Given the description of an element on the screen output the (x, y) to click on. 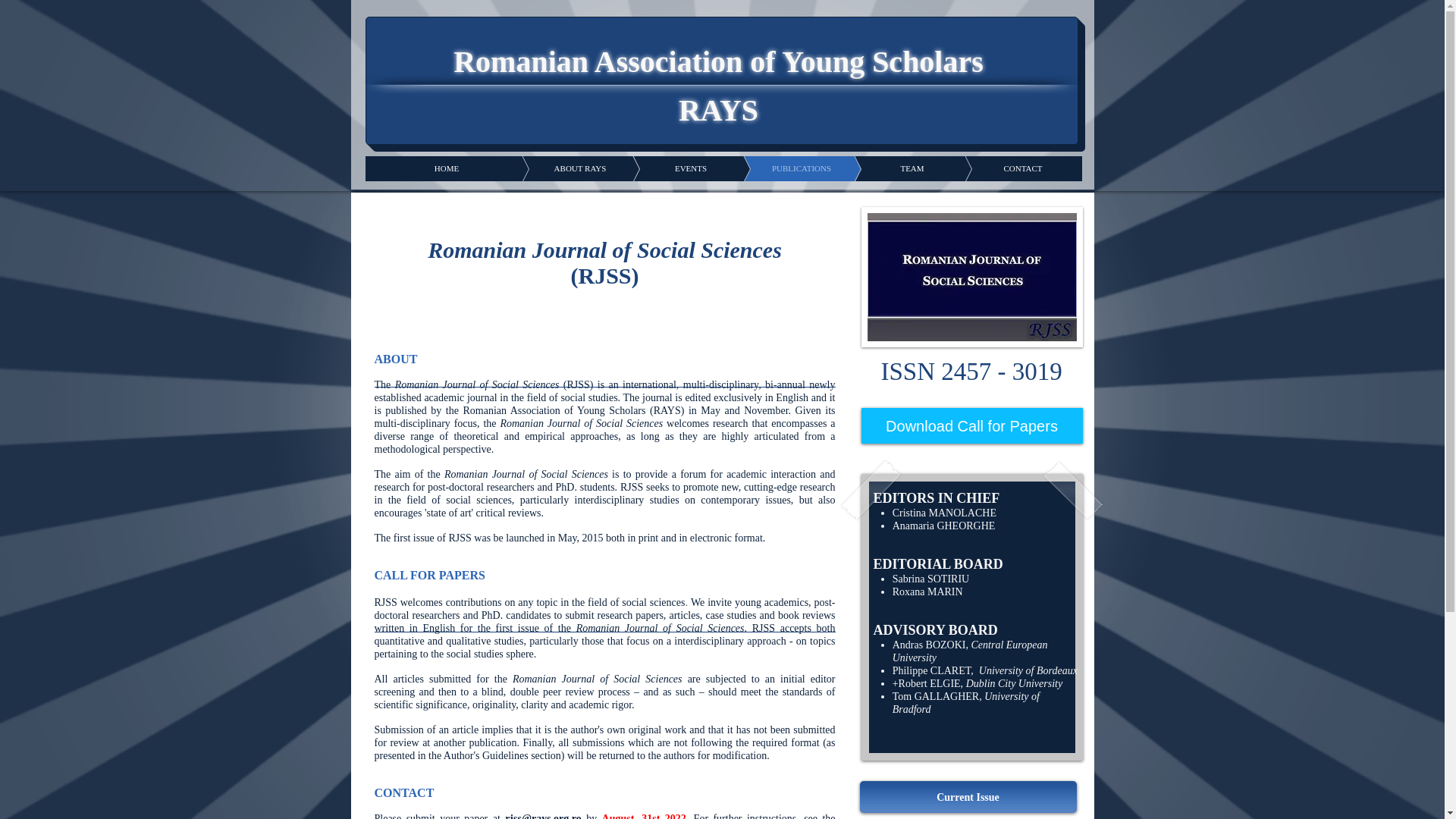
PUBLICATIONS (778, 168)
TEAM (889, 168)
HOME (446, 168)
CONTACT (999, 168)
ABOUT RAYS (557, 168)
Current Issue (968, 797)
EVENTS (667, 168)
Download Call for Papers (972, 425)
